Given the description of an element on the screen output the (x, y) to click on. 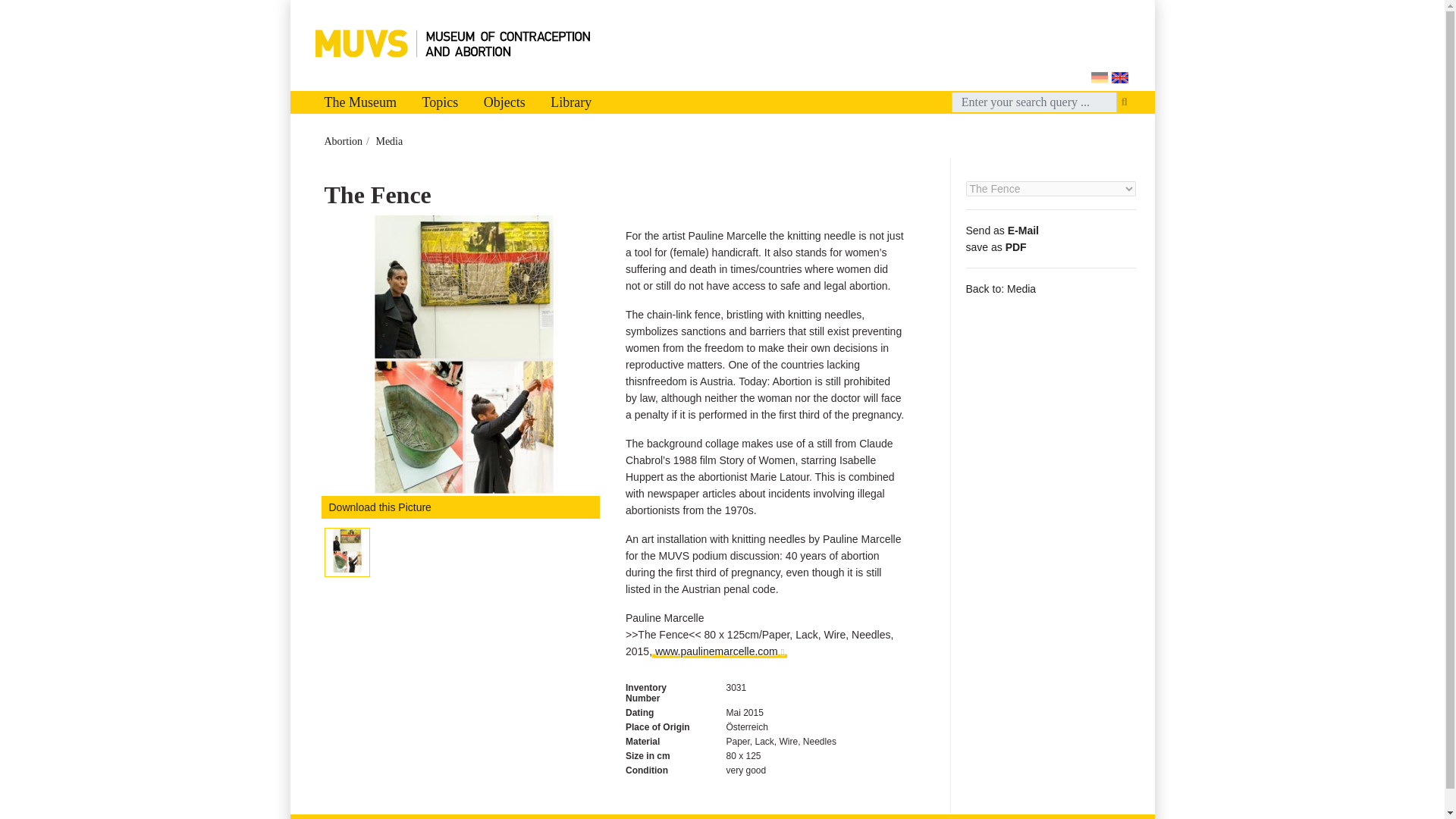
Objects (504, 101)
The Museum (360, 101)
en (1120, 76)
Topics (439, 101)
Stricknadelkunst (346, 550)
Stricknadelkunst (464, 354)
en (1120, 76)
de (1098, 76)
de (1098, 76)
